Given the description of an element on the screen output the (x, y) to click on. 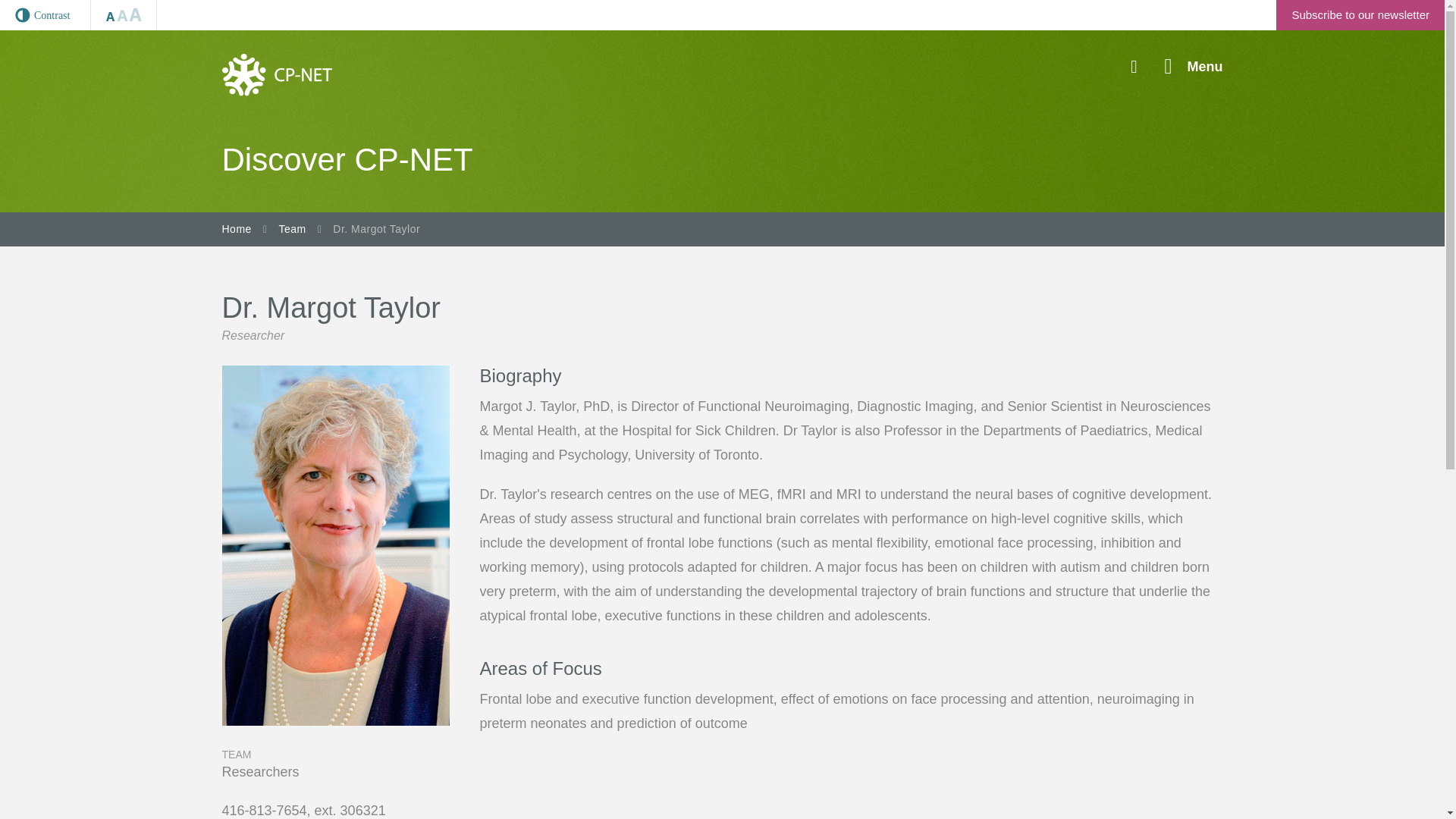
CanChild (276, 74)
Font Size (123, 15)
Menu (1193, 66)
Change Contrast (45, 15)
